Given the description of an element on the screen output the (x, y) to click on. 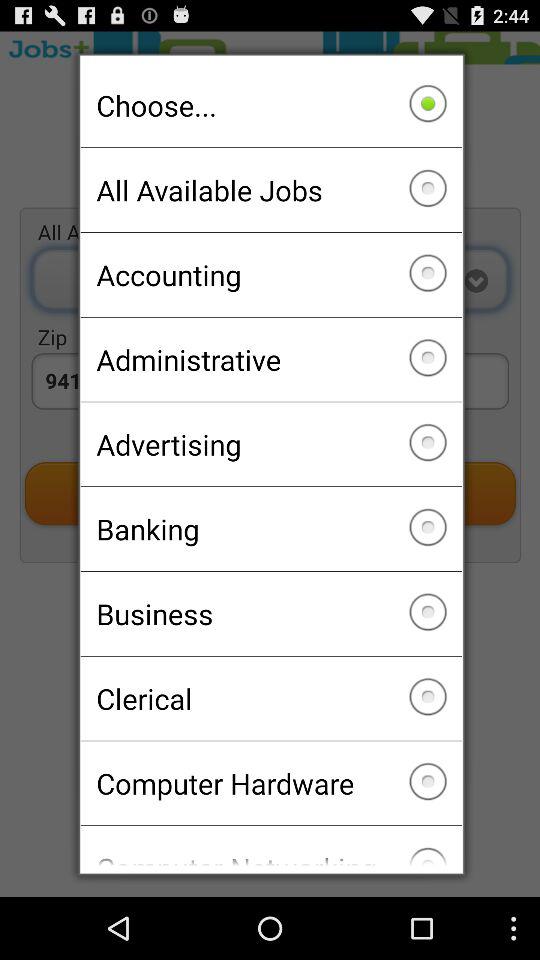
swipe until the accounting icon (270, 274)
